Given the description of an element on the screen output the (x, y) to click on. 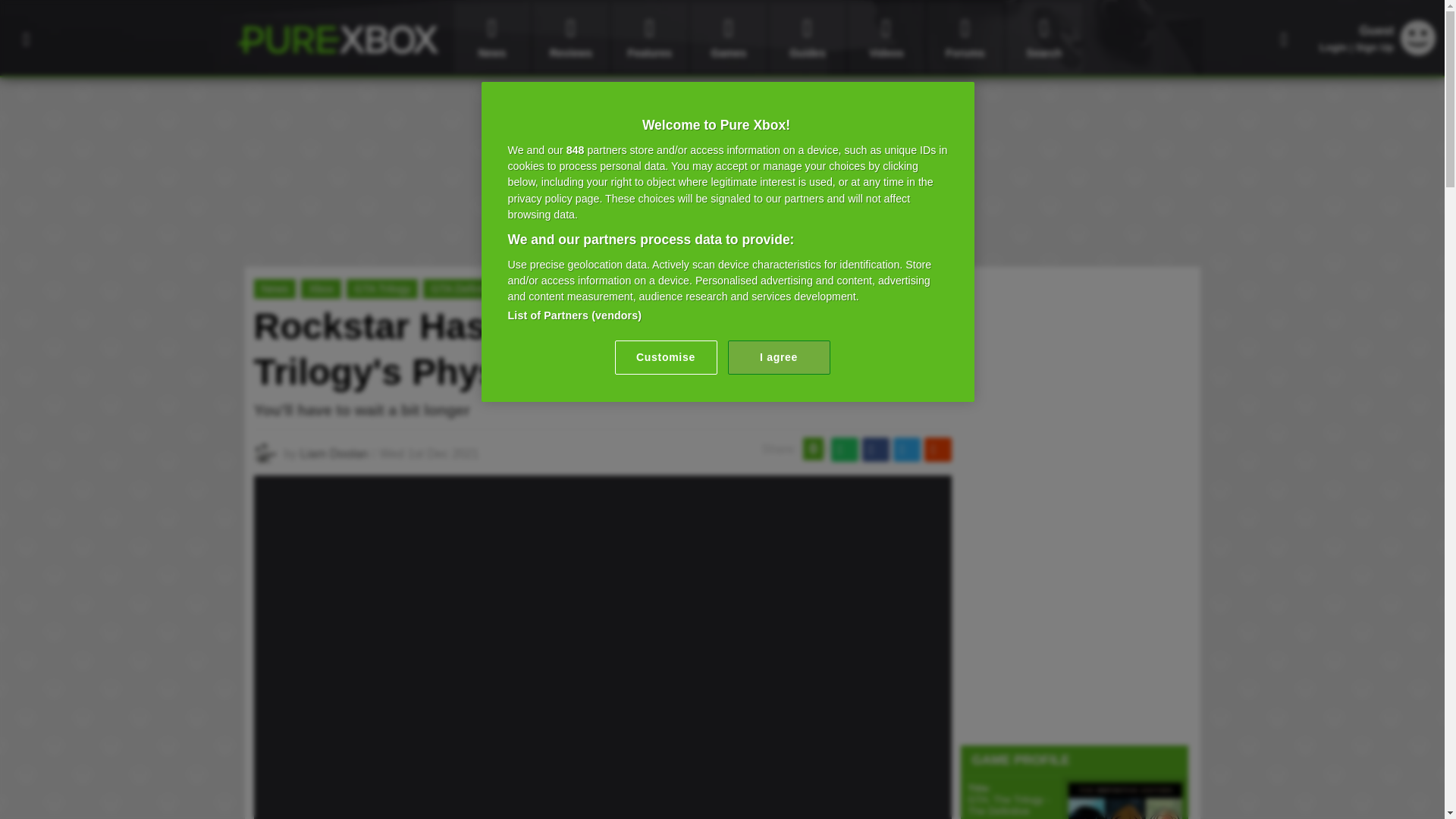
Guides (807, 37)
Pure Xbox (336, 39)
News (491, 37)
Guest (1417, 51)
Videos (886, 37)
Reviews (570, 37)
Pure Xbox (336, 39)
Forums (965, 37)
Features (649, 37)
Sign Up (1374, 47)
